Given the description of an element on the screen output the (x, y) to click on. 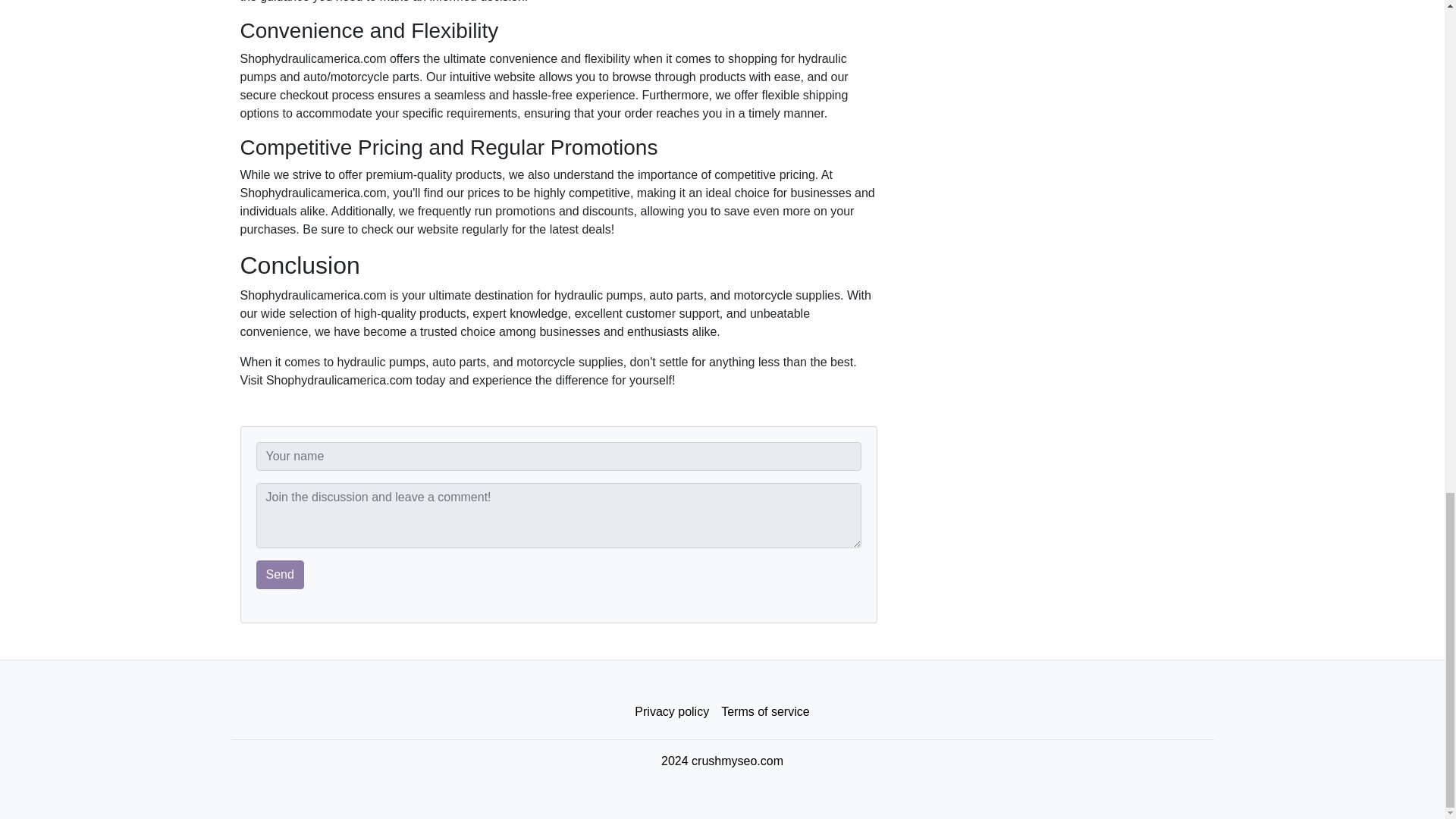
Send (280, 574)
Privacy policy (671, 711)
Send (280, 574)
Terms of service (764, 711)
